Given the description of an element on the screen output the (x, y) to click on. 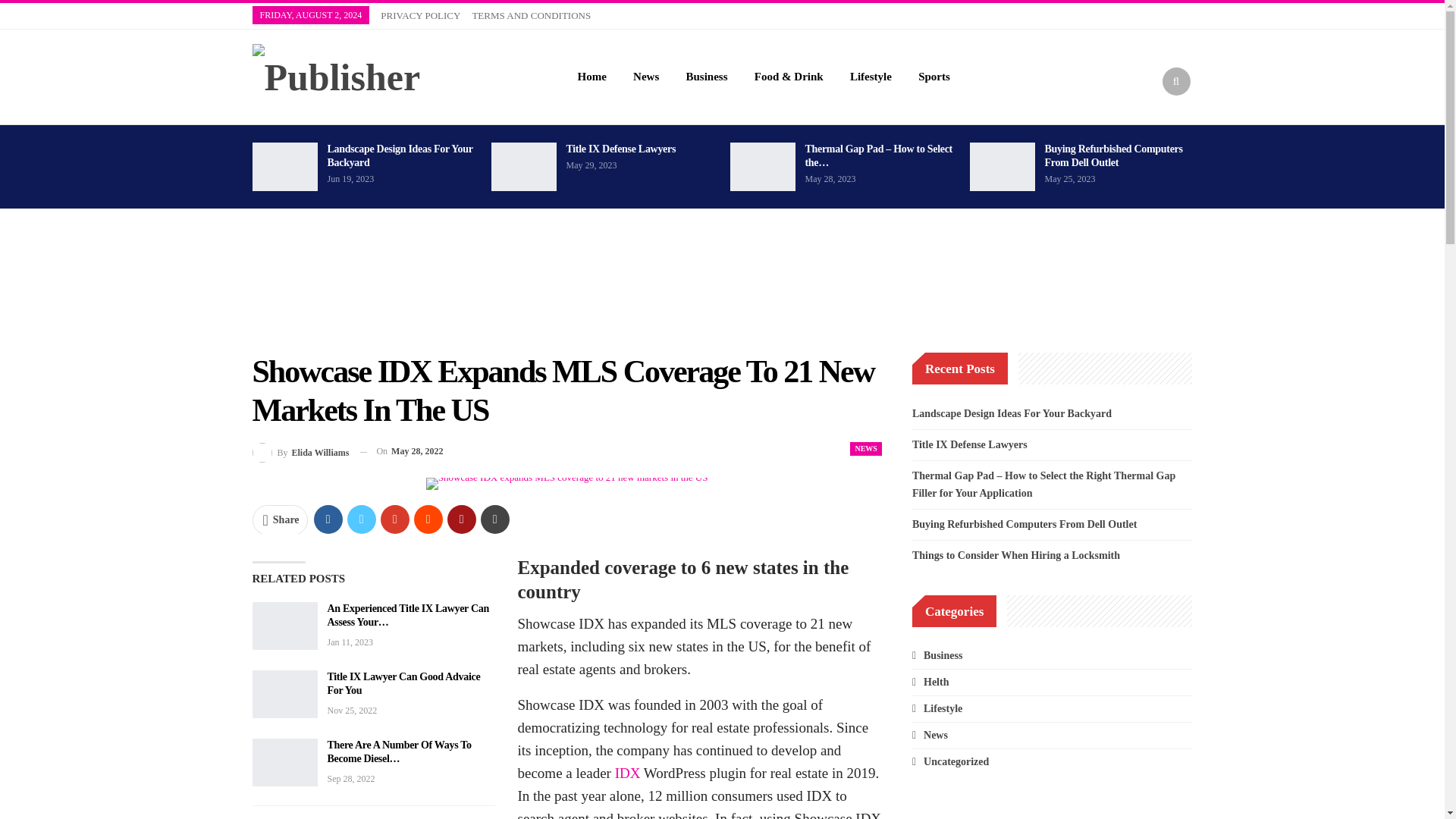
NEWS (865, 448)
Landscape Design Ideas For Your Backyard (284, 166)
Buying Refurbished Computers From Dell Outlet (1001, 166)
Title IX Lawyer Can Good Advaice For You (284, 694)
IDX (627, 772)
Title IX Defense Lawyers (620, 148)
By Elida Williams (300, 451)
PRIVACY POLICY (420, 15)
Browse Author Articles (300, 451)
Buying Refurbished Computers From Dell Outlet (1113, 155)
Title IX Defense Lawyers (524, 166)
TERMS AND CONDITIONS (531, 15)
There Are A Number Of Ways To Become Diesel Mechanic (284, 762)
Title IX Lawyer Can Good Advaice For You (403, 683)
